Given the description of an element on the screen output the (x, y) to click on. 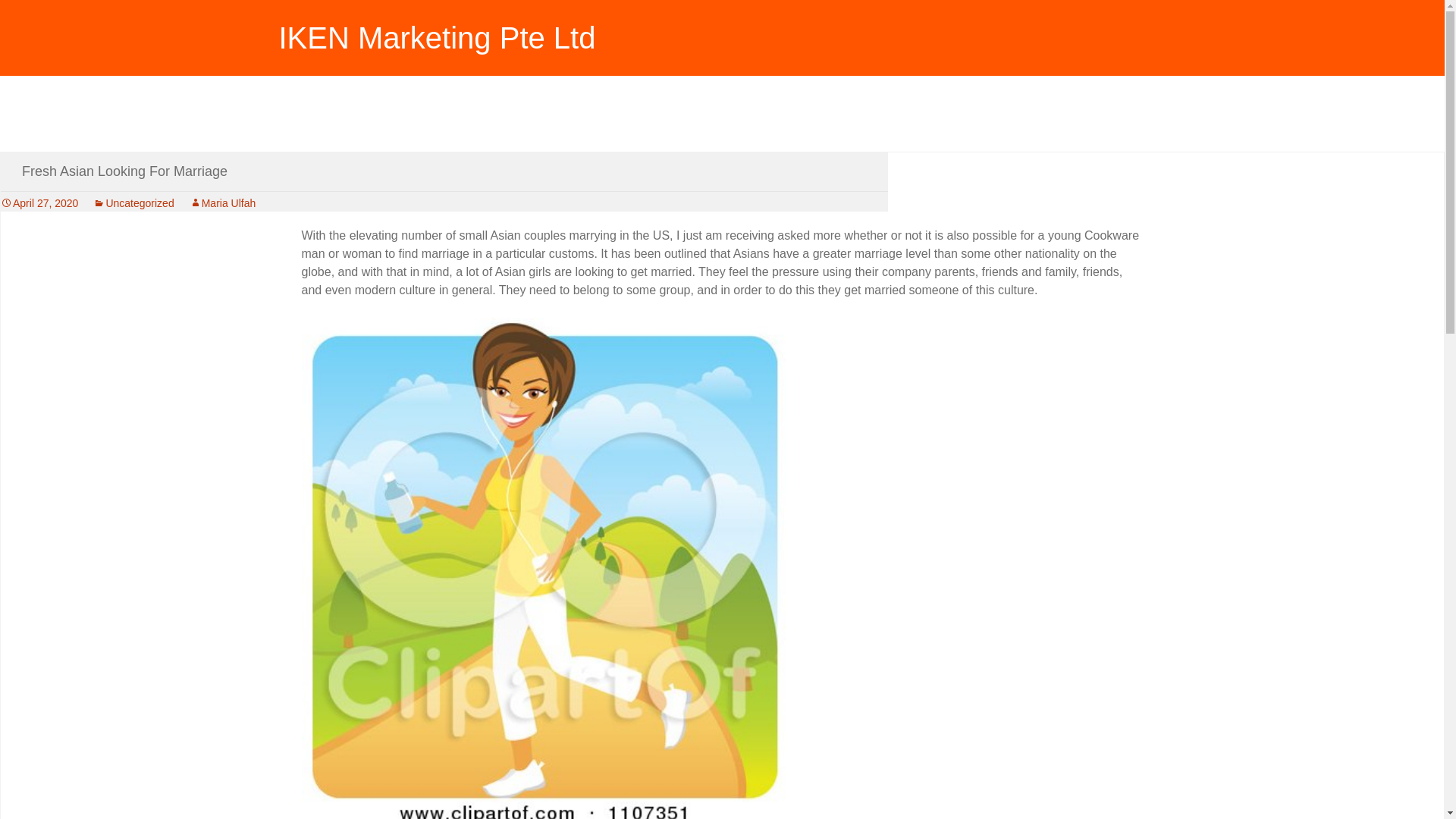
IKEN Marketing Pte Ltd (722, 30)
Registration (328, 111)
Permalink to Fresh Asian Looking For Marriage (39, 203)
Semantic Personal Publishing Platform (328, 111)
IKEN Marketing Pte Ltd (722, 30)
Semantic Personal Publishing Platform (405, 111)
Maria Ulfah (222, 203)
April 27, 2020 (39, 203)
